Given the description of an element on the screen output the (x, y) to click on. 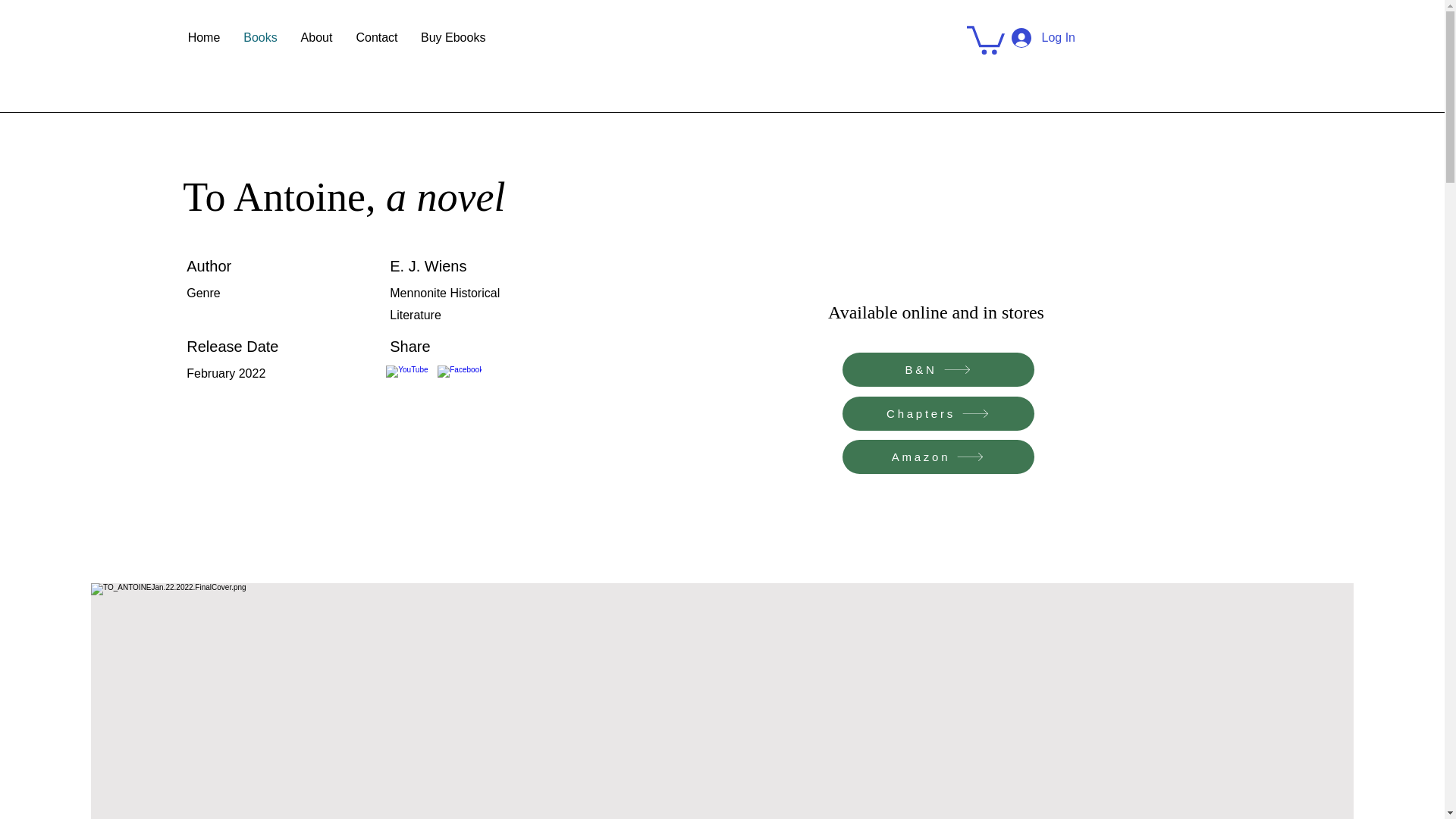
Books (259, 37)
Contact (376, 37)
Buy Ebooks (452, 37)
About (315, 37)
Chapters (937, 413)
Amazon (937, 456)
Home (203, 37)
Log In (1043, 37)
